Given the description of an element on the screen output the (x, y) to click on. 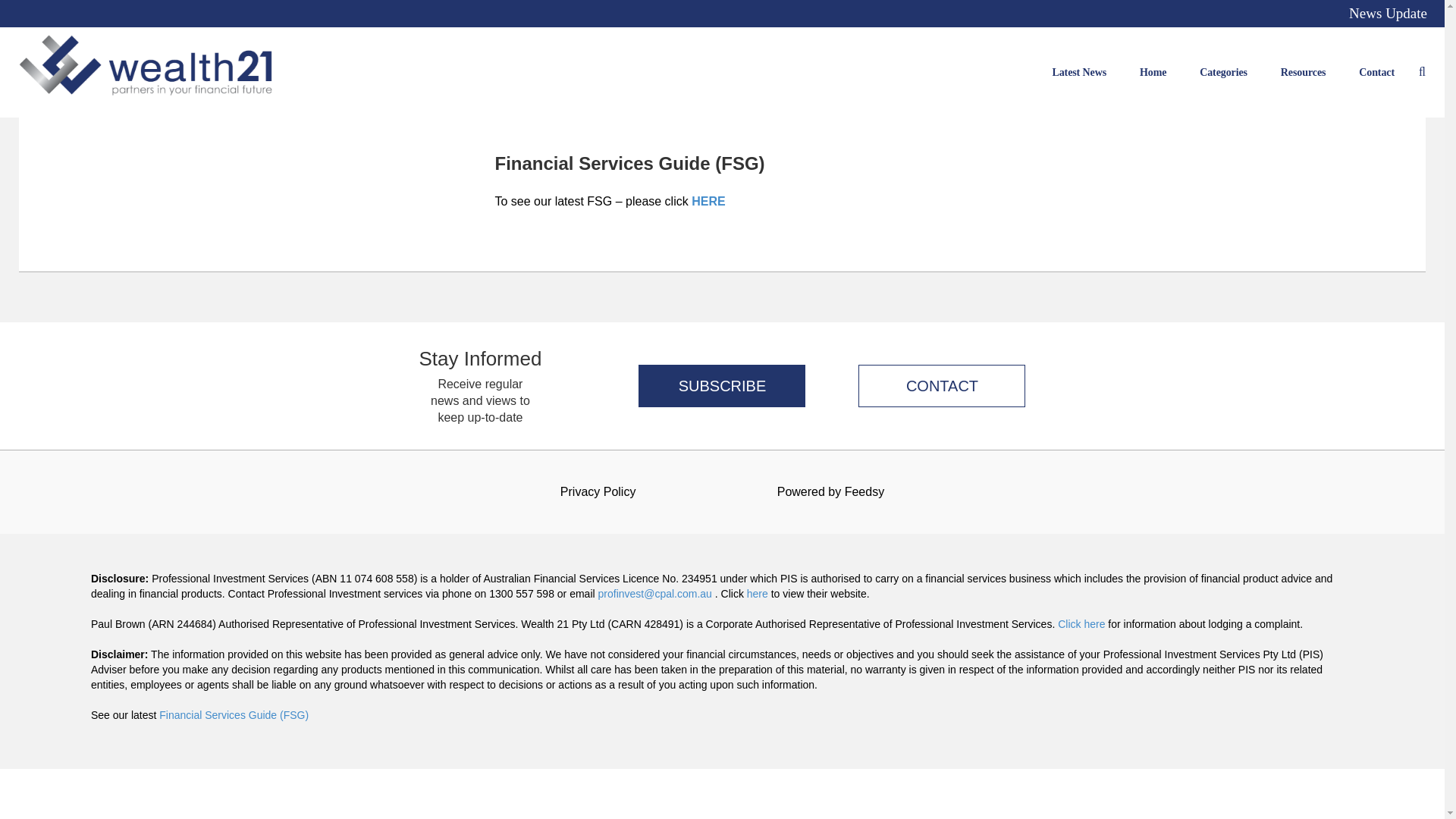
Privacy Policy (598, 491)
SUBSCRIBE (721, 385)
here (757, 593)
Wealth 21 (145, 72)
Click here (1081, 623)
HERE (708, 201)
Resources (1303, 71)
Contact (1376, 71)
PIS Website (757, 593)
CONTACT (932, 385)
Latest News (1078, 71)
Home (1153, 71)
Categories (1223, 71)
